Given the description of an element on the screen output the (x, y) to click on. 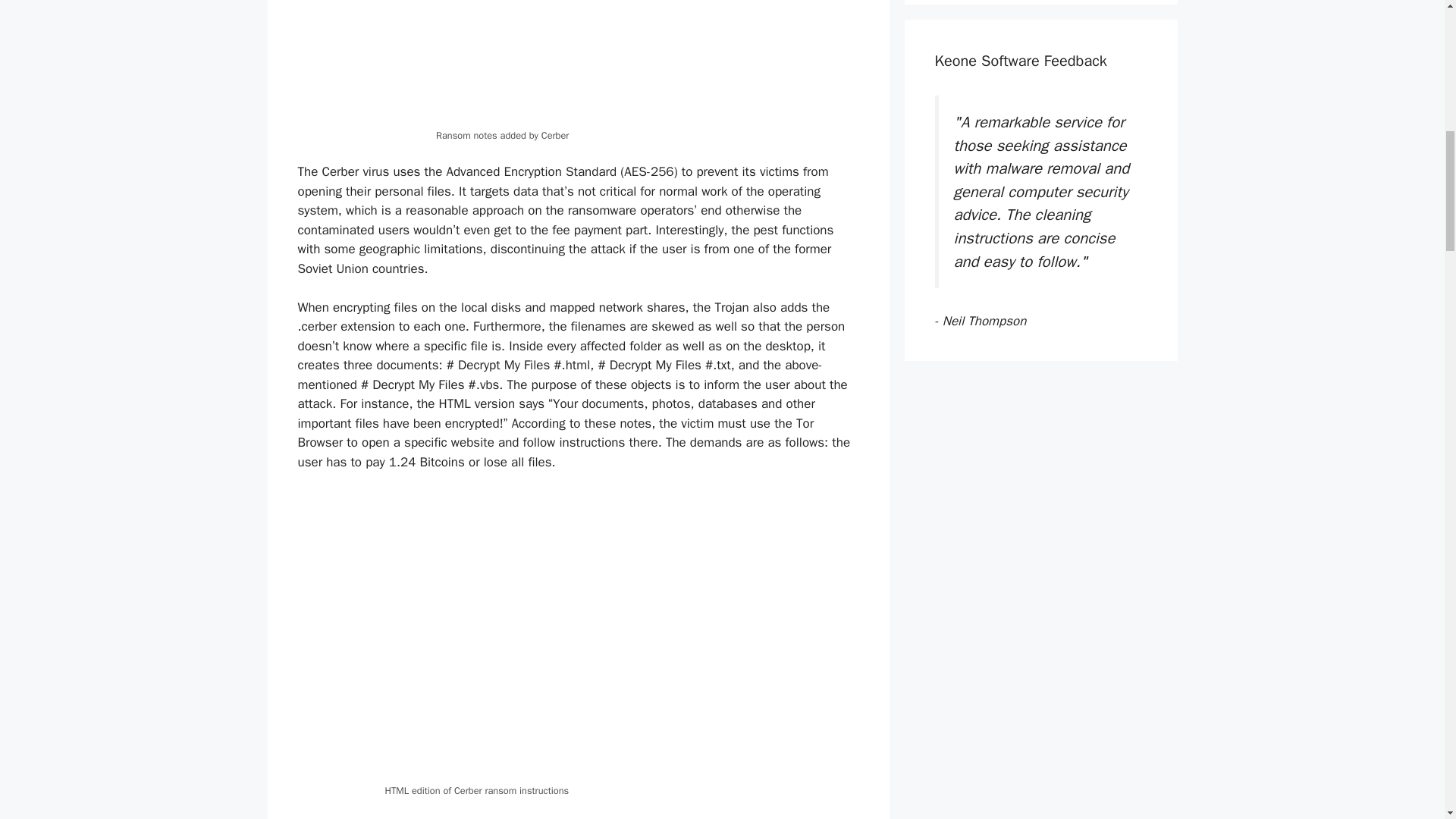
HTML edition of Cerber ransom instructions (578, 636)
Ransom notes added by Cerber (577, 62)
Scroll back to top (1406, 720)
